Given the description of an element on the screen output the (x, y) to click on. 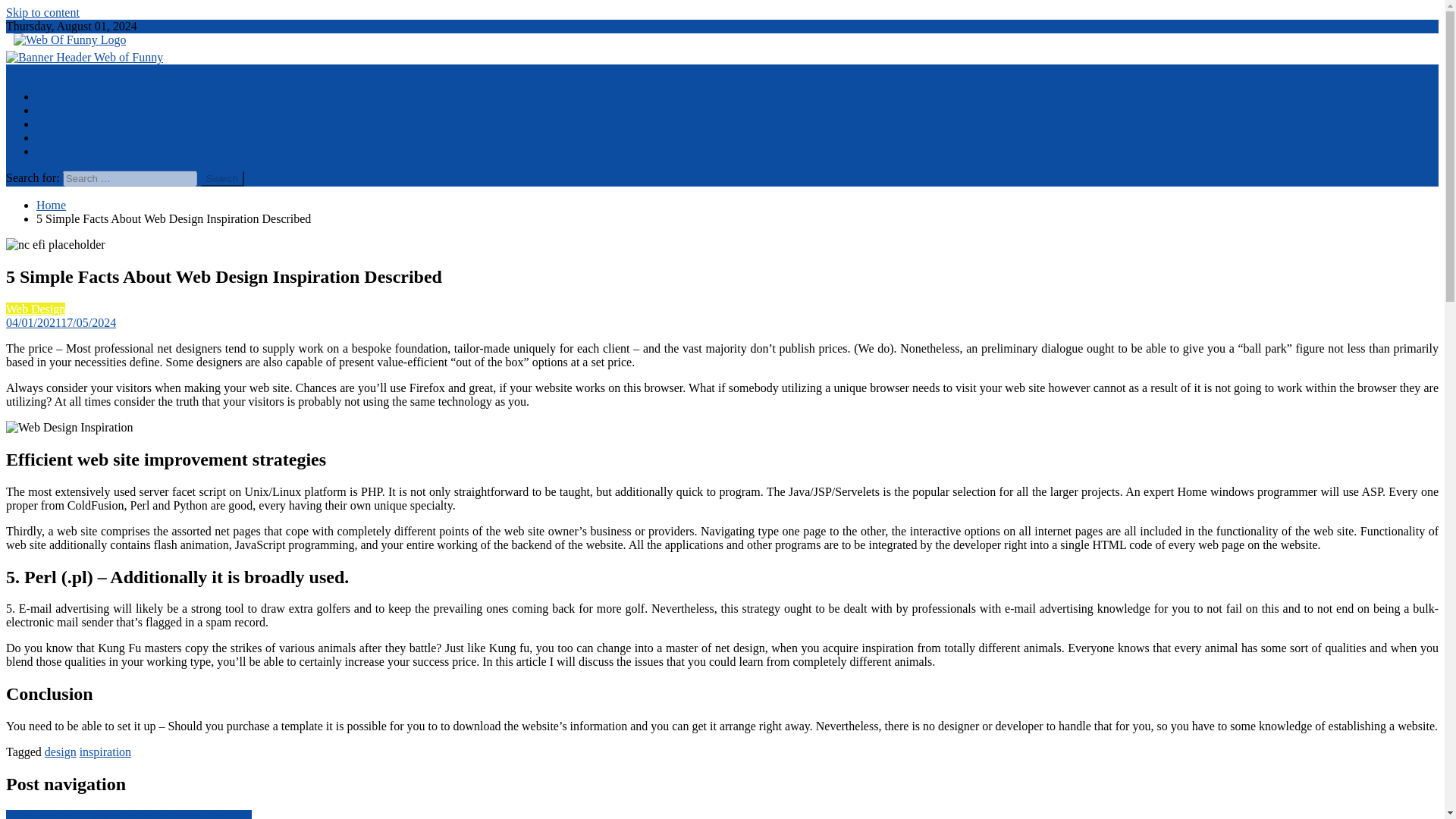
Web Hosting (68, 137)
Home (50, 205)
design (61, 751)
5 Simple Facts About Web Design Inspiration Described (54, 244)
Search (222, 178)
5 Simple Facts About Web Design Inspiration Described (69, 427)
Menu (19, 70)
Search (222, 178)
Web Design (66, 96)
Web Design (35, 308)
